Given the description of an element on the screen output the (x, y) to click on. 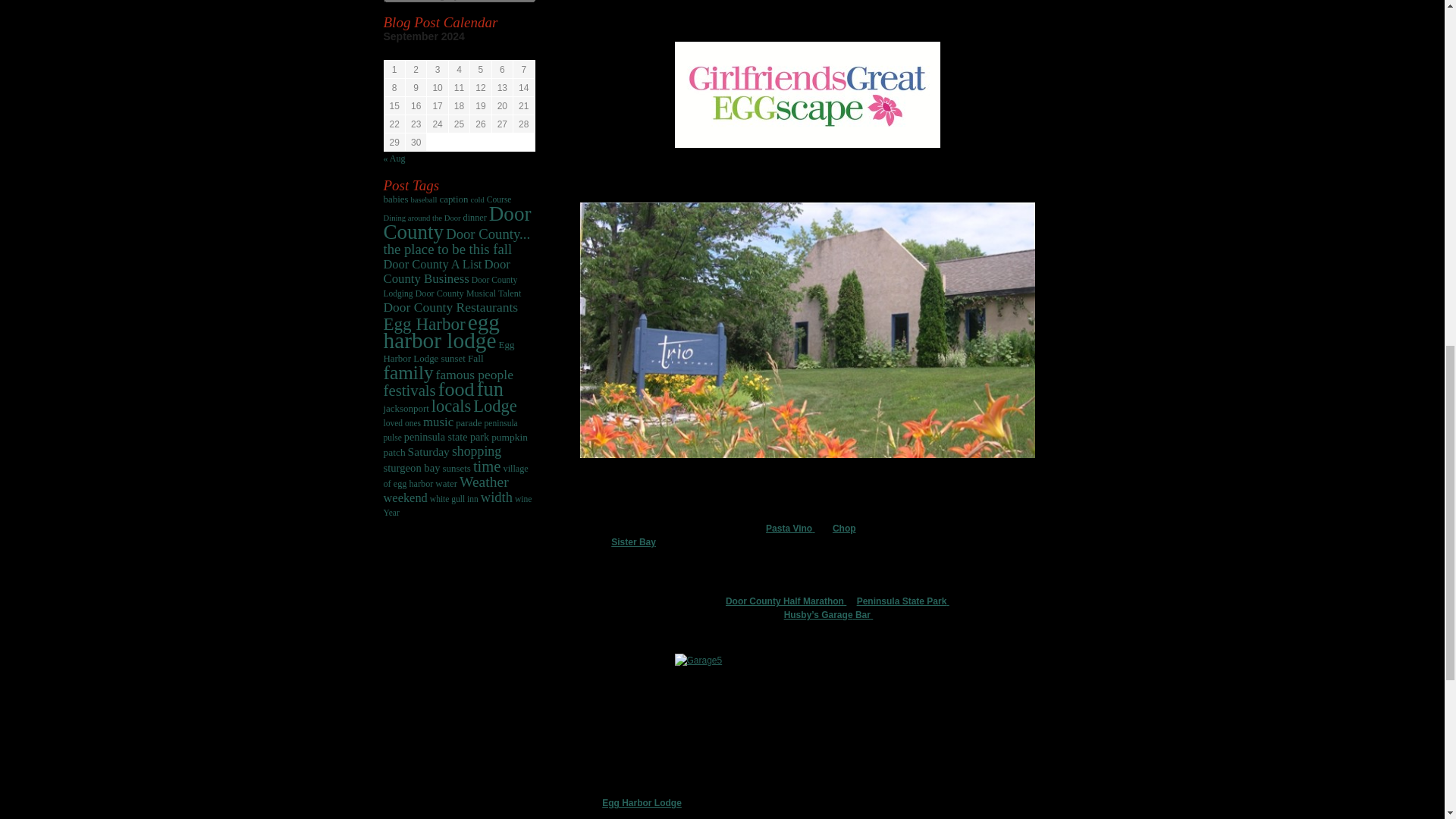
Saturday (523, 52)
Tuesday (437, 52)
Thursday (481, 52)
Monday (415, 52)
Friday (502, 52)
Sunday (394, 52)
Pasta Vino (789, 528)
Door County Half Marathon (785, 601)
Chop (844, 528)
Wednesday (458, 52)
